Given the description of an element on the screen output the (x, y) to click on. 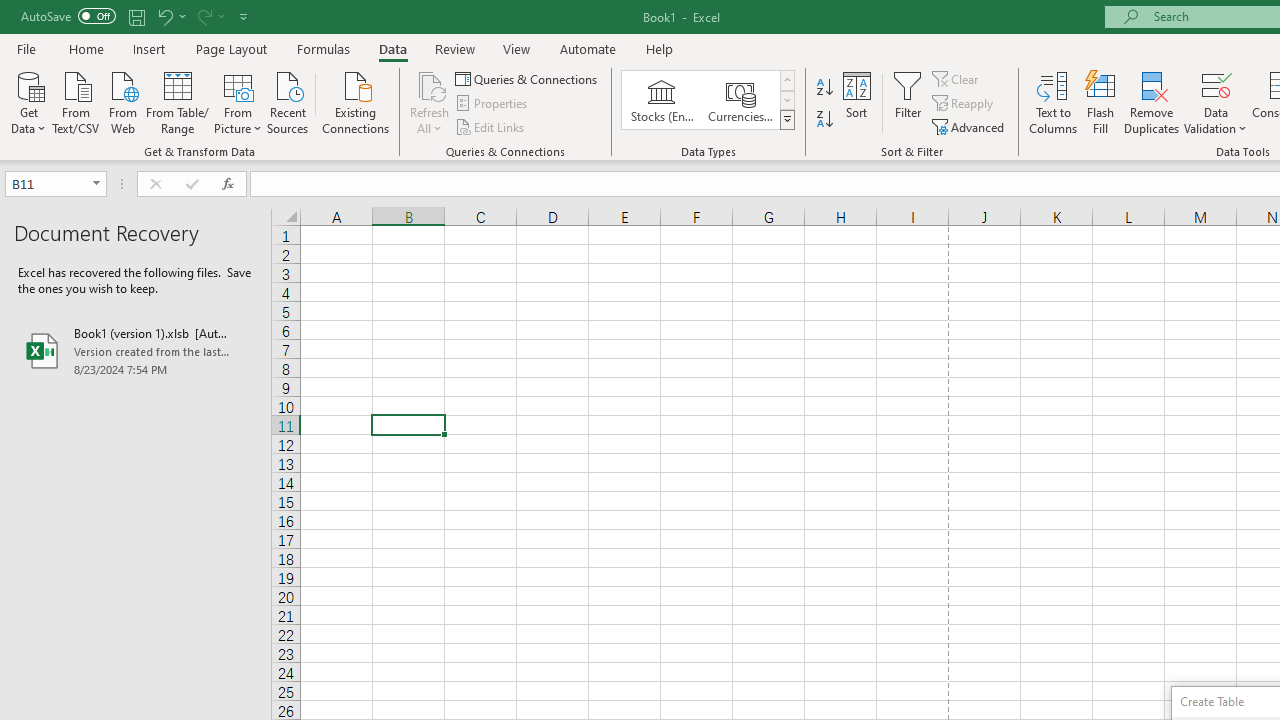
Recent Sources (287, 101)
Row up (786, 79)
Data Validation... (1215, 84)
Edit Links (491, 126)
Queries & Connections (527, 78)
AutomationID: ConvertToLinkedEntity (708, 99)
Help (660, 48)
Advanced... (970, 126)
Open (96, 183)
Sort... (856, 102)
Save (136, 15)
Row Down (786, 100)
Existing Connections (355, 101)
From Picture (238, 101)
Stocks (English) (662, 100)
